Given the description of an element on the screen output the (x, y) to click on. 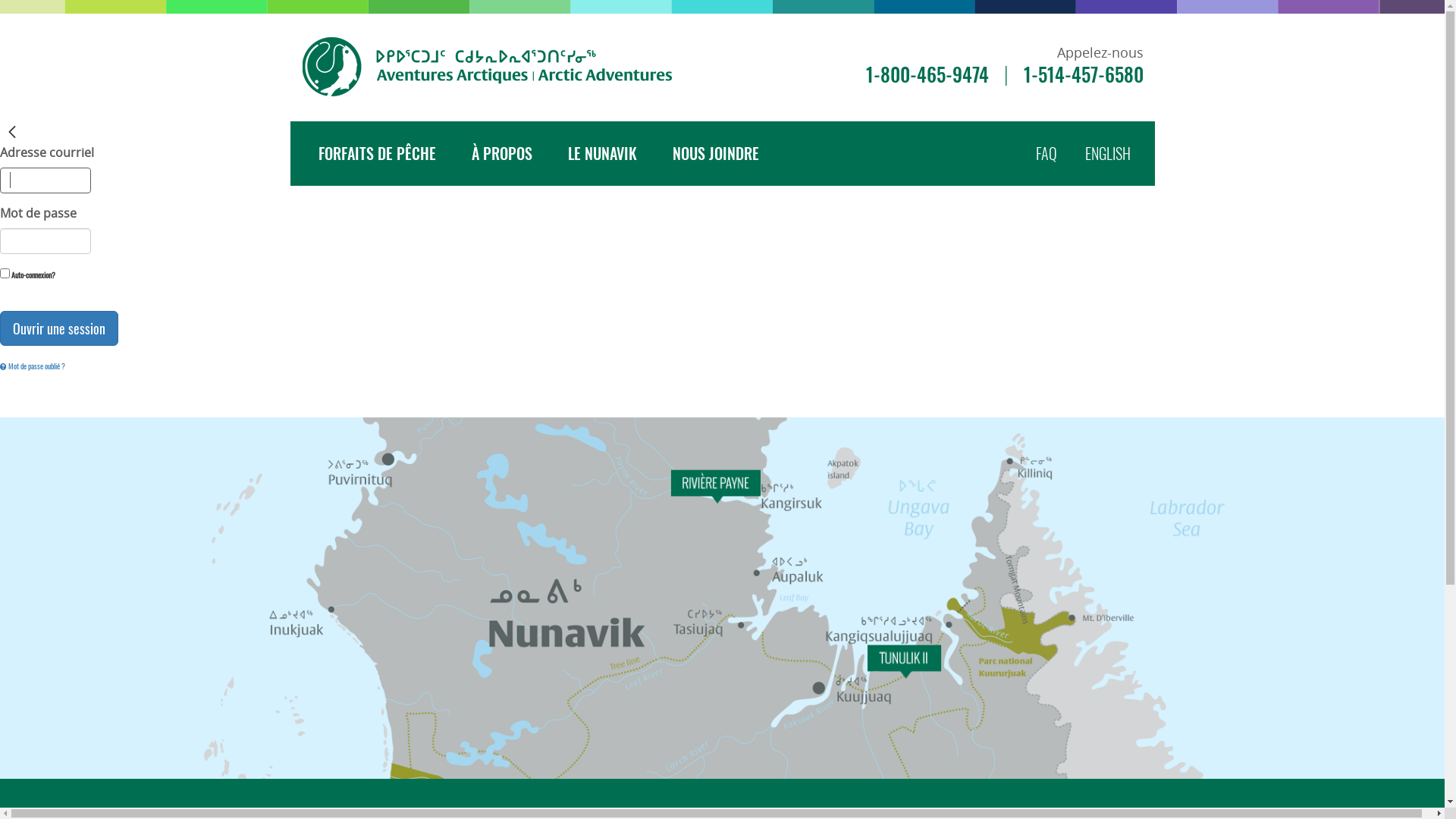
ENGLISH Element type: text (1119, 153)
Aventures Arctiques | Artic Adventures Element type: hover (487, 67)
Ouvrir une session Element type: text (59, 327)
FAQ Element type: text (1058, 153)
LE NUNAVIK Element type: text (601, 153)
on Element type: text (4, 273)
1-514-457-6580 Element type: text (1083, 73)
NOUS JOINDRE Element type: text (714, 153)
1-800-465-9474 Element type: text (927, 73)
